Given the description of an element on the screen output the (x, y) to click on. 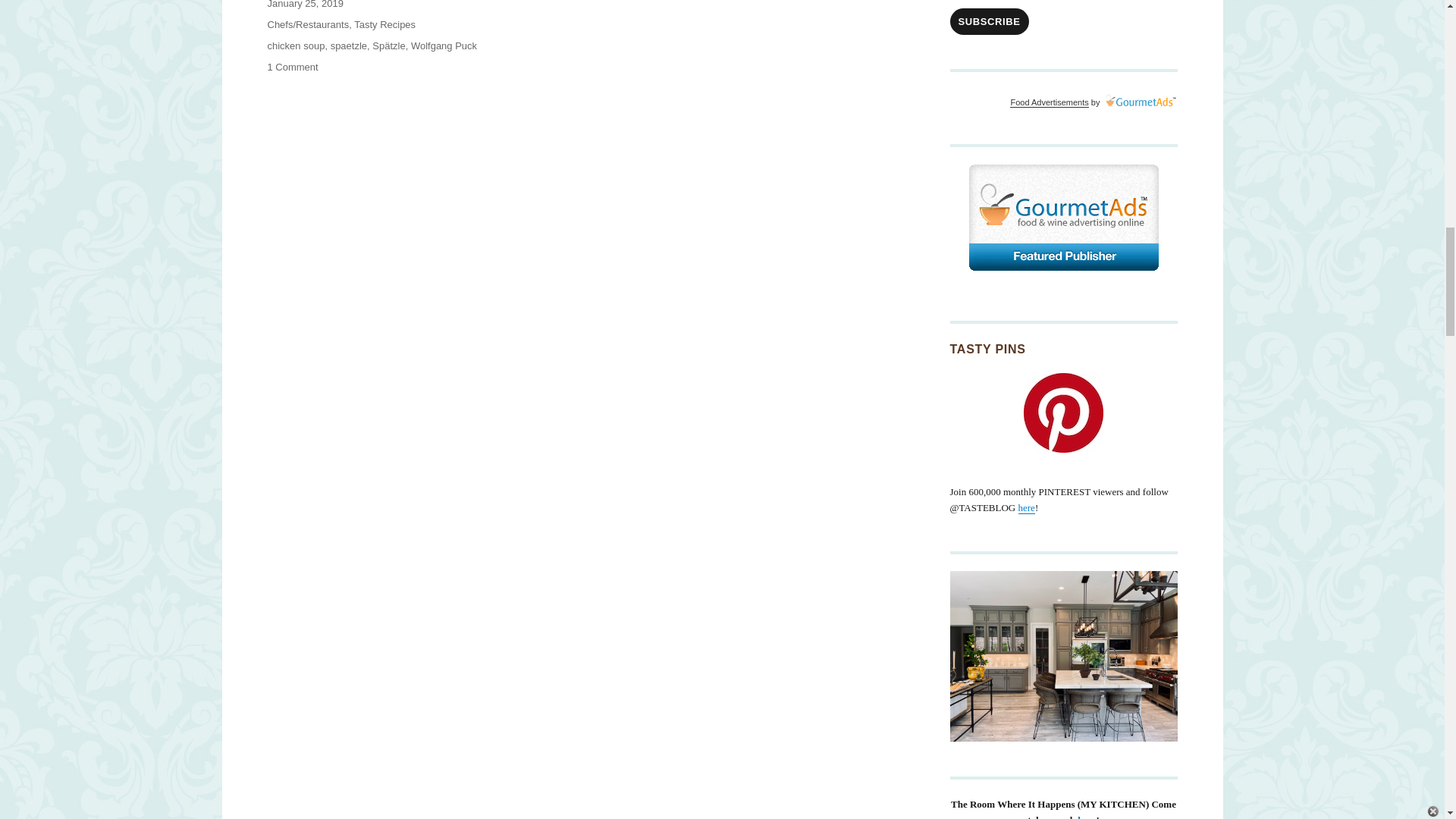
Food Advertisements (1048, 102)
here (1026, 507)
Food Advertising (1062, 217)
chicken soup (295, 45)
Wolfgang Puck (443, 45)
here (1086, 816)
Food Advertisements (1048, 102)
SUBSCRIBE (988, 21)
Tasty Recipes (383, 24)
January 25, 2019 (304, 4)
spaetzle (348, 45)
